Given the description of an element on the screen output the (x, y) to click on. 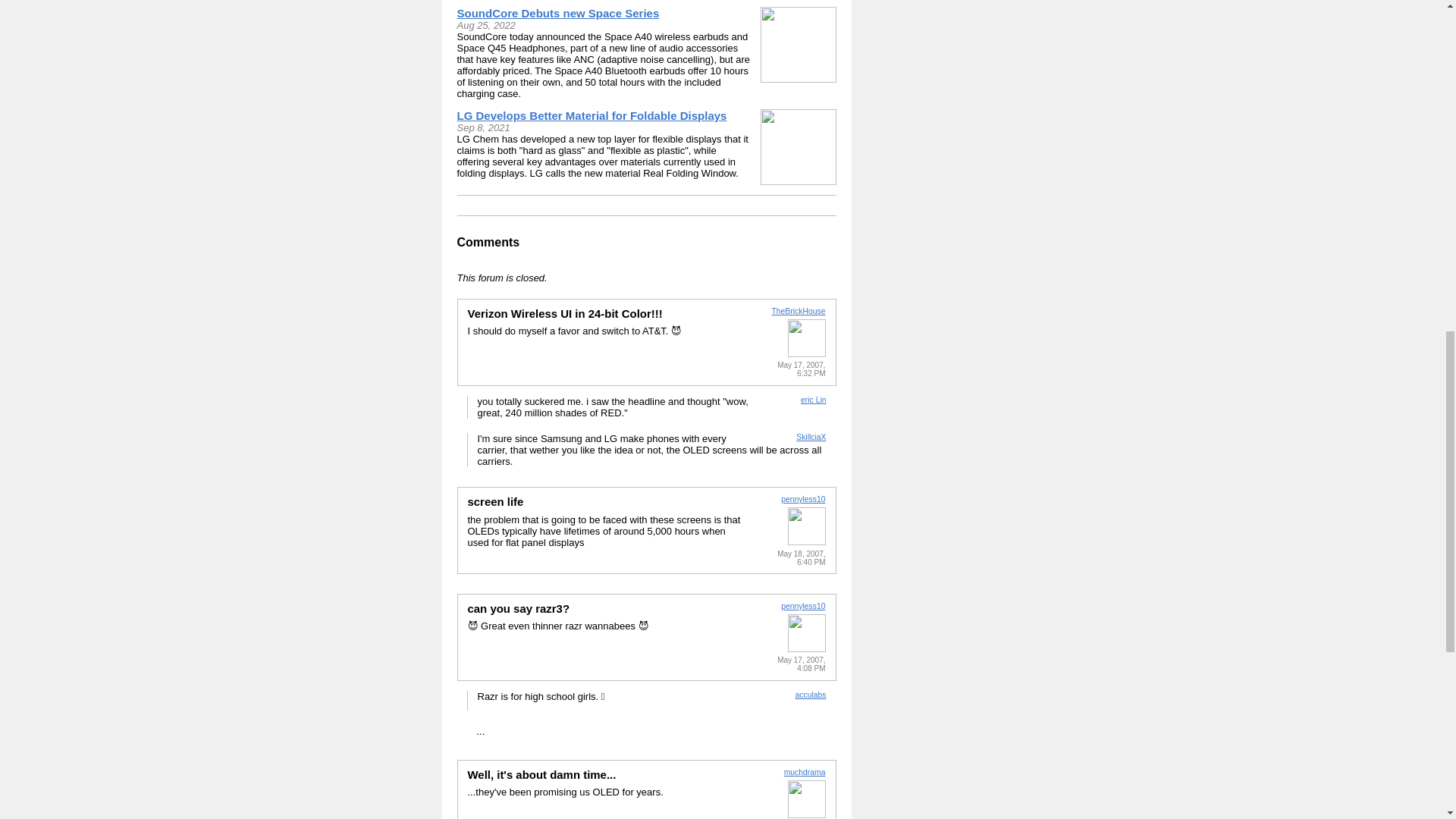
pennyless10 (802, 605)
SkillciaX (810, 437)
TheBrickHouse (798, 311)
Comments (488, 241)
eric Lin (813, 399)
muchdrama (804, 772)
pennyless10 (802, 499)
acculabs (809, 695)
